Given the description of an element on the screen output the (x, y) to click on. 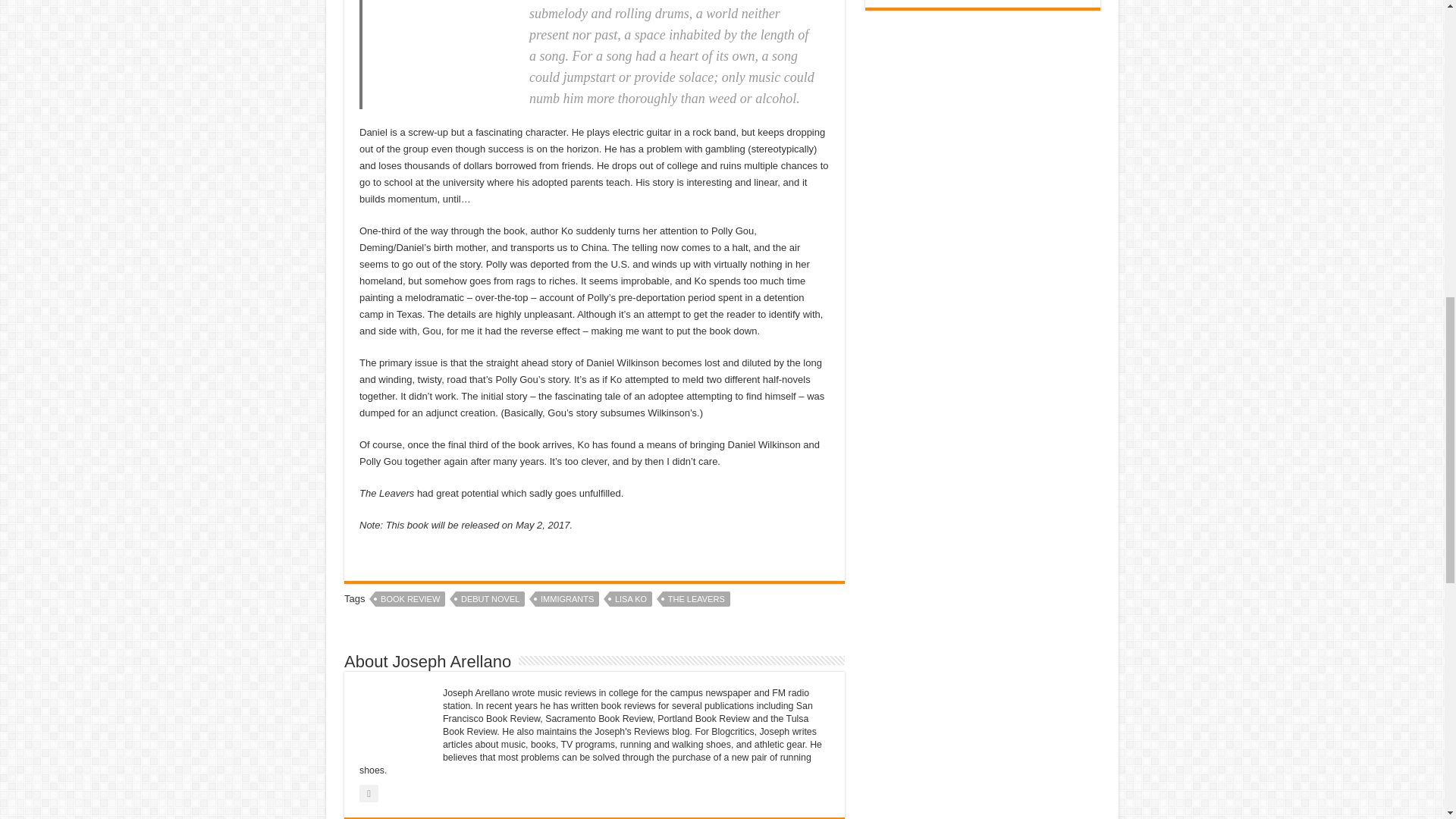
Scroll To Top (1421, 60)
